Given the description of an element on the screen output the (x, y) to click on. 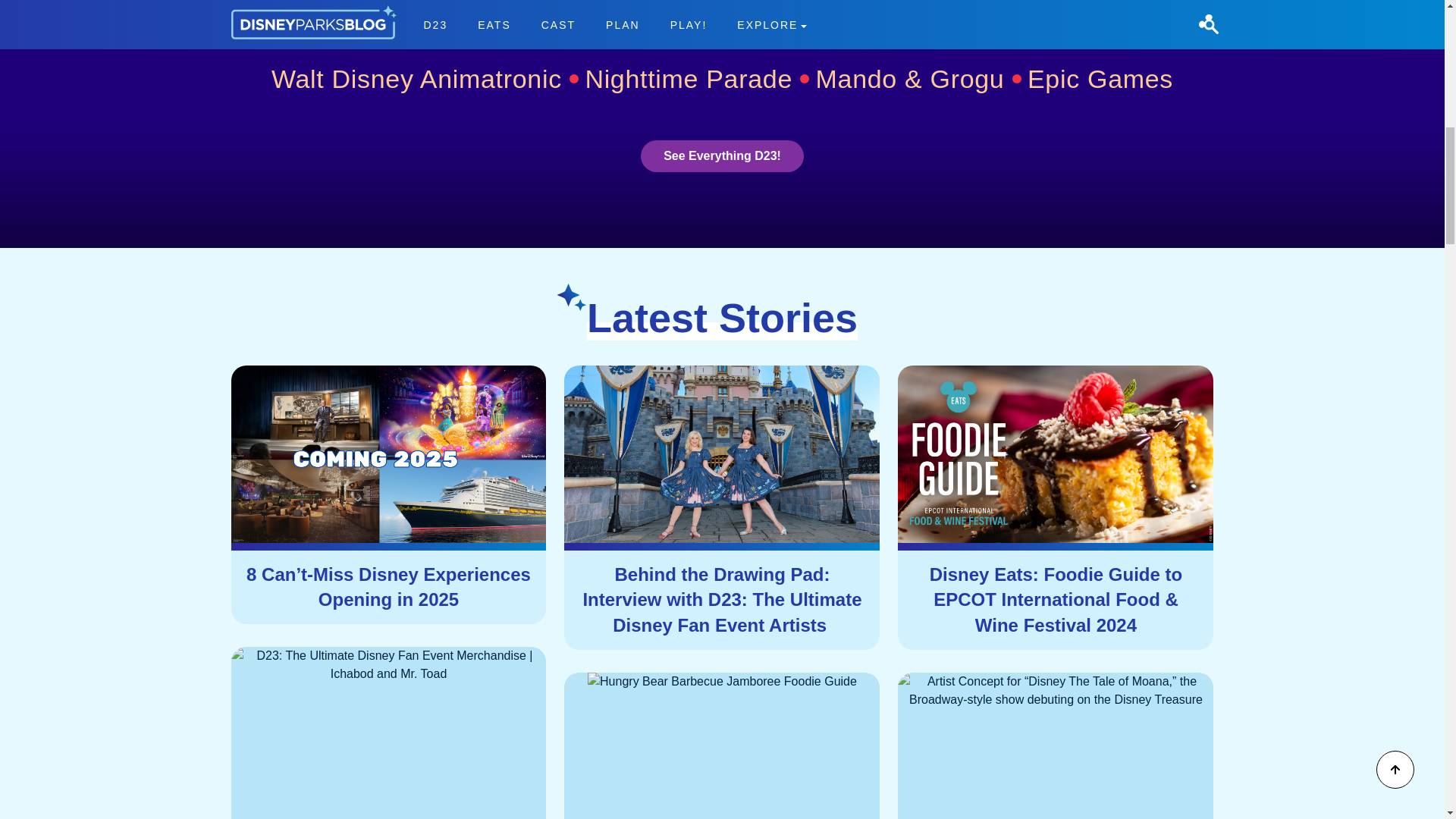
Epic Games (1100, 78)
Nighttime Parade (697, 78)
Walt Disney Animatronic (424, 78)
Lion King Ride (809, 18)
See Everything D23! (721, 155)
Tropical Americas (834, 18)
